Given the description of an element on the screen output the (x, y) to click on. 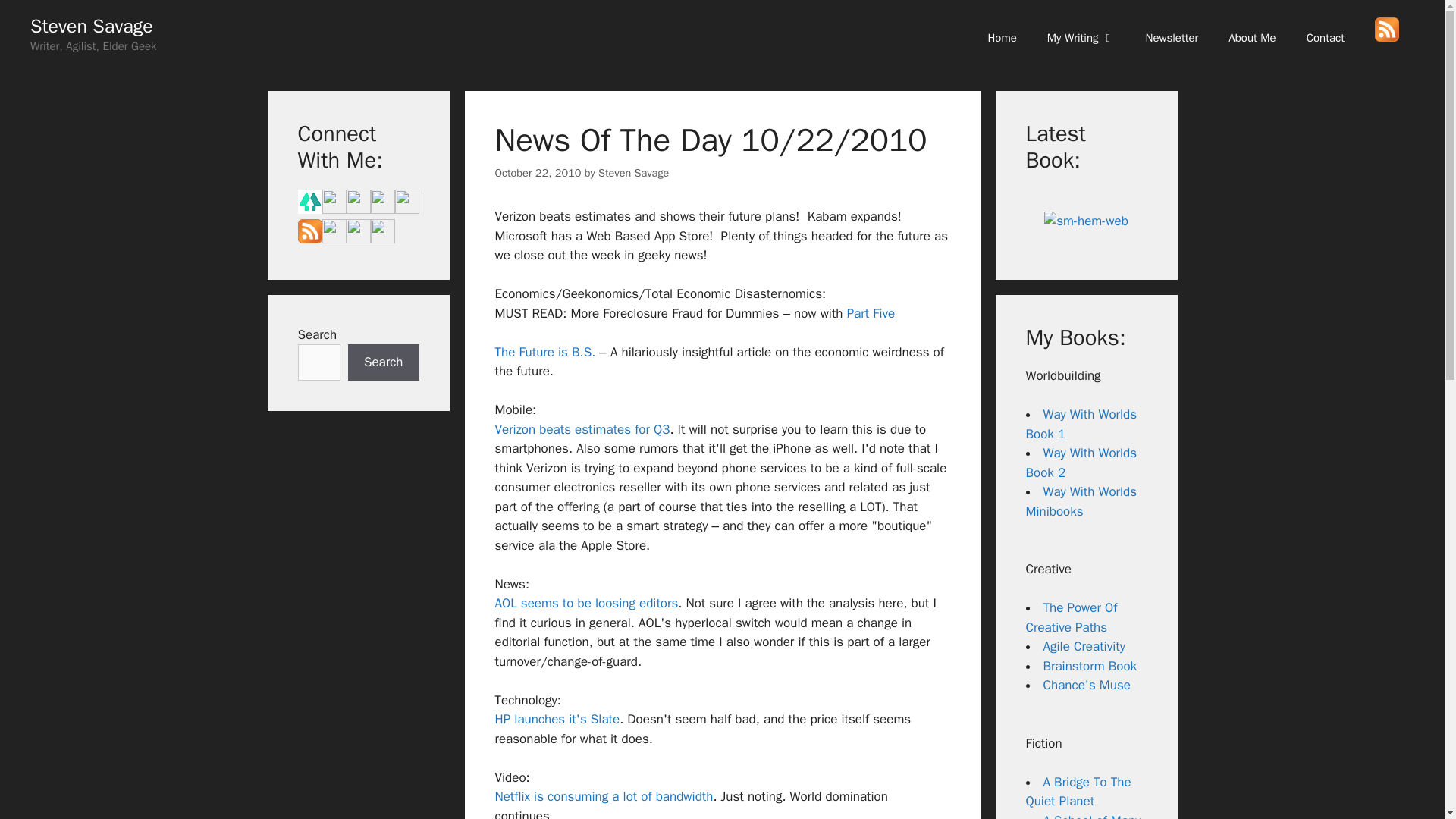
The Future is B.S. (545, 351)
AOL seems to be loosing editors (586, 602)
Search (383, 361)
My Writing (1081, 37)
Contact (1325, 37)
Verizon beats estimates for Q3 (582, 429)
Netflix is consuming a lot of bandwidth (604, 796)
Part Five (871, 313)
Home (1001, 37)
View all posts by Steven Savage (633, 172)
